Given the description of an element on the screen output the (x, y) to click on. 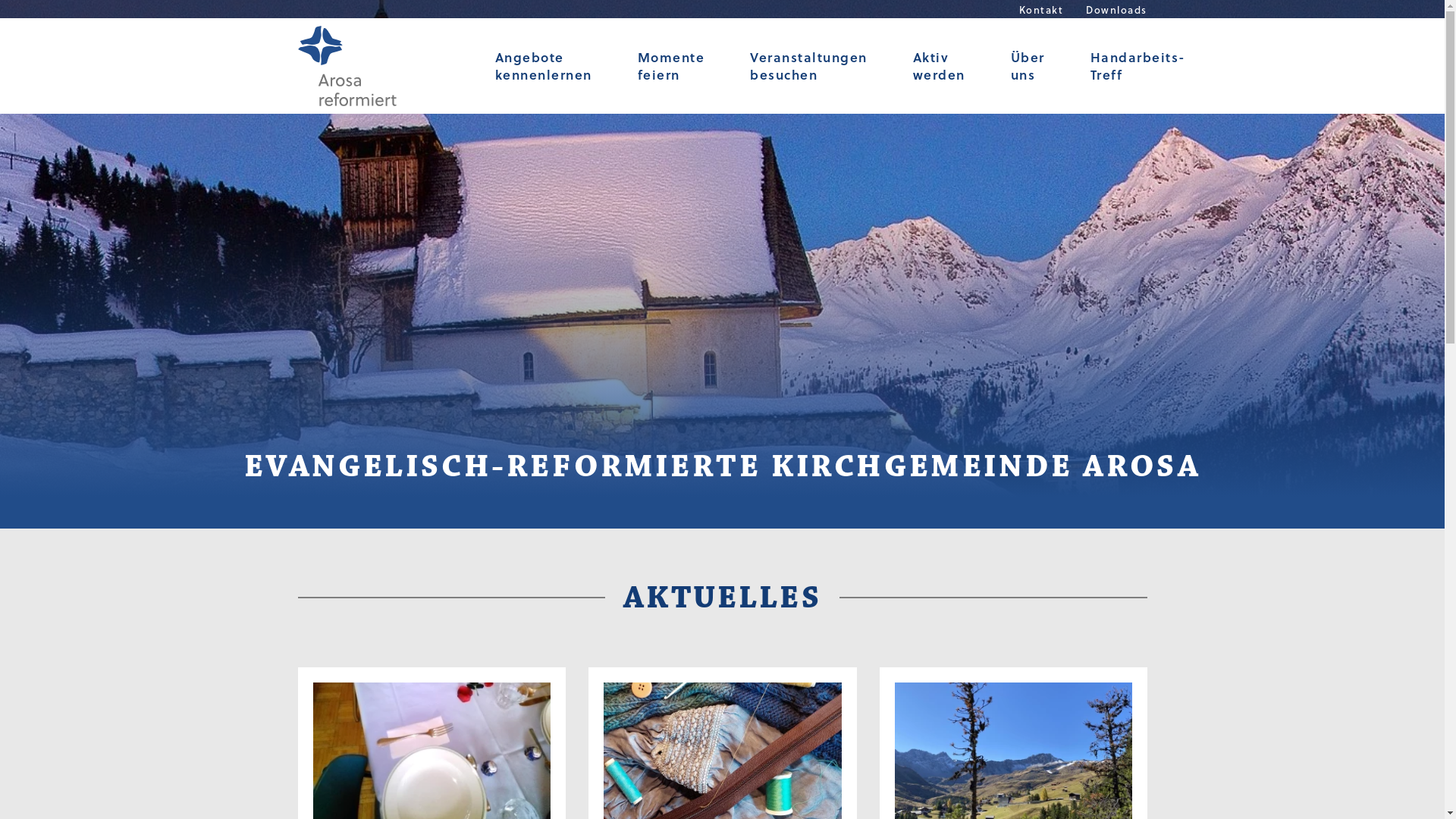
Handarbeits-Treff Element type: text (1137, 65)
Momente feiern Element type: text (670, 65)
Downloads Element type: text (1116, 9)
Angebote kennenlernen Element type: text (542, 65)
Aktiv werden Element type: text (939, 65)
Kontakt Element type: text (1041, 9)
Veranstaltungen besuchen Element type: text (808, 65)
